Given the description of an element on the screen output the (x, y) to click on. 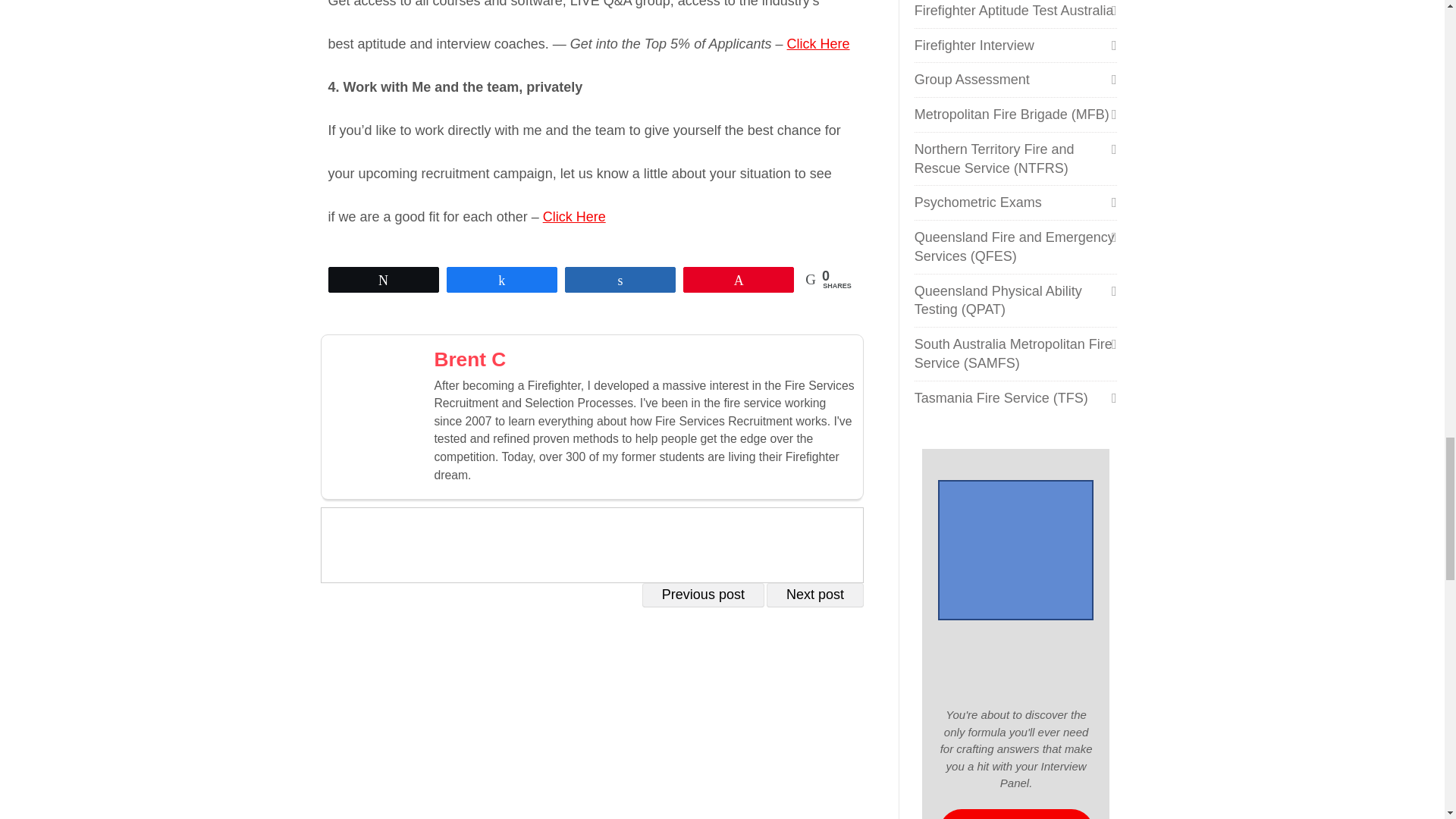
Click Here (818, 43)
Next post (815, 595)
Previous post (703, 595)
Click Here (574, 216)
